Given the description of an element on the screen output the (x, y) to click on. 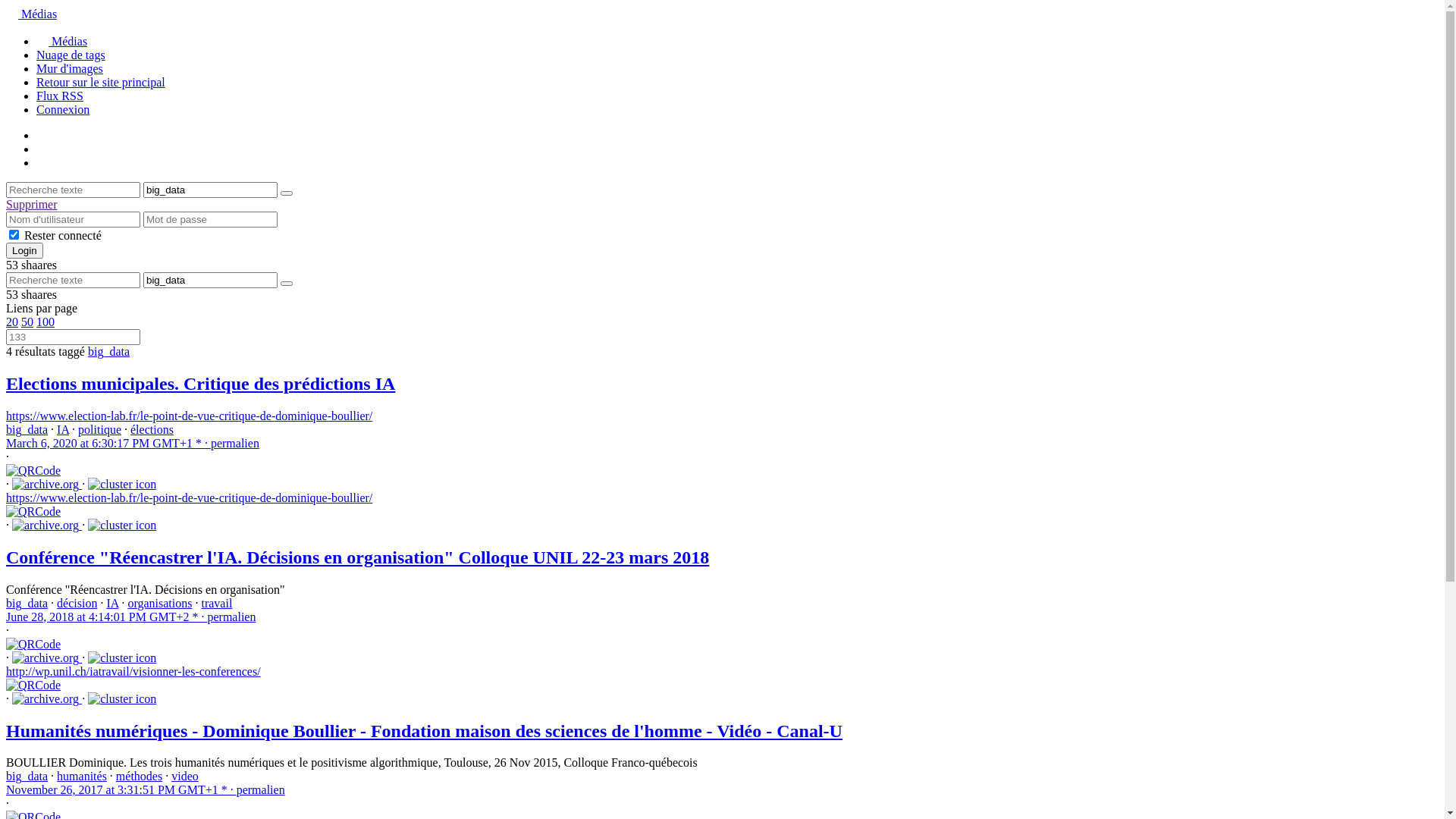
QR-Code Element type: hover (33, 511)
See related links Element type: hover (121, 658)
organisations Element type: text (159, 602)
20 Element type: text (12, 321)
100 Element type: text (45, 321)
Voir sur archive.org Element type: hover (45, 525)
QR-Code Element type: hover (33, 685)
See related links Element type: hover (121, 525)
Login Element type: text (24, 250)
Nuage de tags Element type: text (70, 54)
Voir sur archive.org Element type: hover (45, 699)
politique Element type: text (99, 429)
travail Element type: text (216, 602)
QR-Code Element type: hover (33, 644)
big_data Element type: text (26, 775)
Voir sur archive.org Element type: hover (45, 484)
See related links Element type: hover (121, 699)
video Element type: text (184, 775)
IA Element type: text (62, 429)
Connexion Element type: text (62, 109)
Supprimer Element type: text (31, 203)
Retour sur le site principal Element type: text (100, 81)
big_data Element type: text (26, 429)
Voir sur archive.org Element type: hover (45, 658)
big_data Element type: text (26, 602)
Mur d'images Element type: text (69, 68)
50 Element type: text (27, 321)
big_data Element type: text (108, 351)
See related links Element type: hover (121, 484)
QR-Code Element type: hover (33, 470)
Flux RSS Element type: text (59, 95)
http://wp.unil.ch/iatravail/visionner-les-conferences/ Element type: text (133, 671)
IA Element type: text (112, 602)
